Given the description of an element on the screen output the (x, y) to click on. 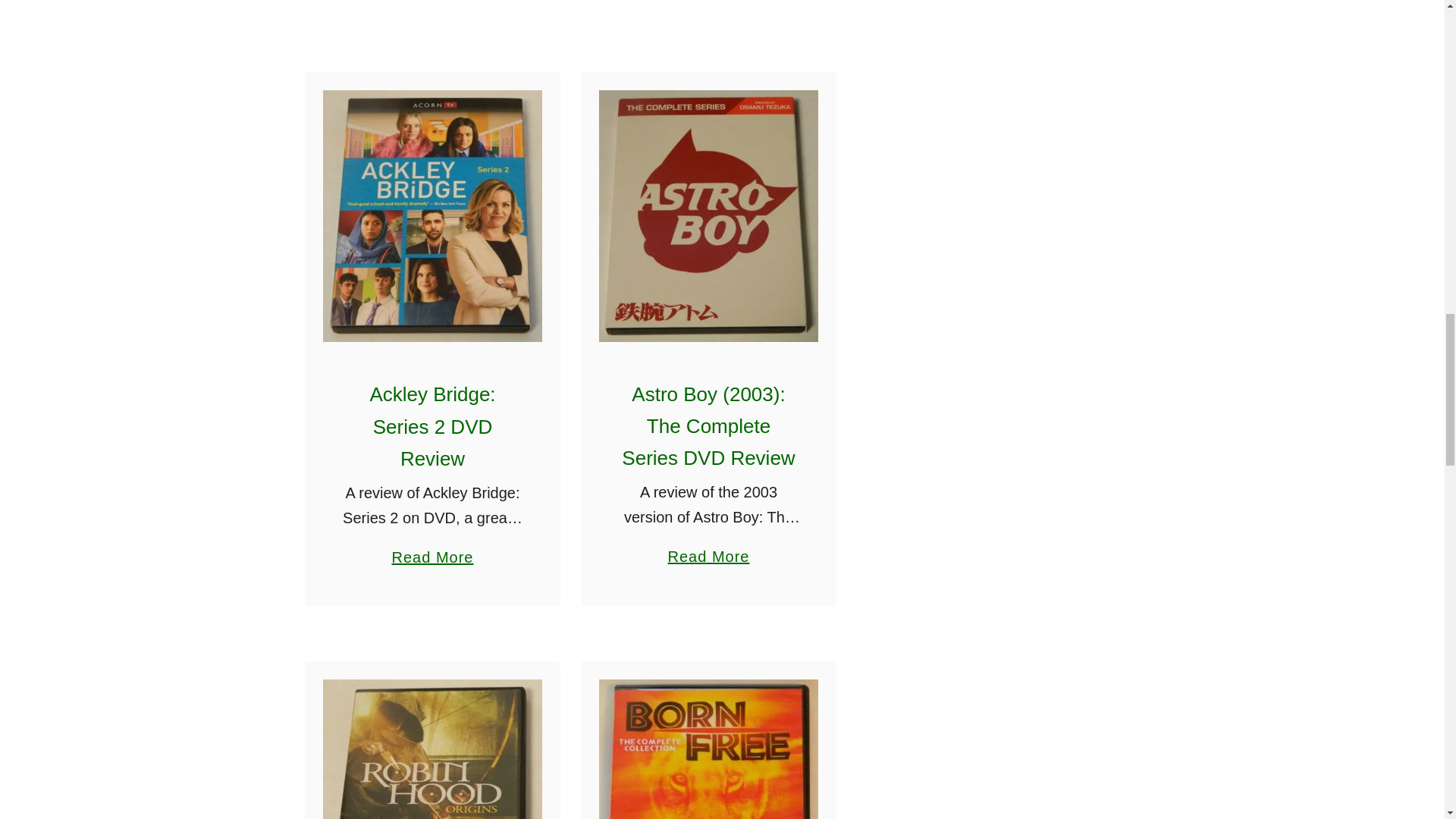
Ackley Bridge: Series 2 DVD Review (432, 426)
Born Free The Complete Collection DVD Review (432, 549)
Robin Hood Origins DVD Review (708, 749)
